Given the description of an element on the screen output the (x, y) to click on. 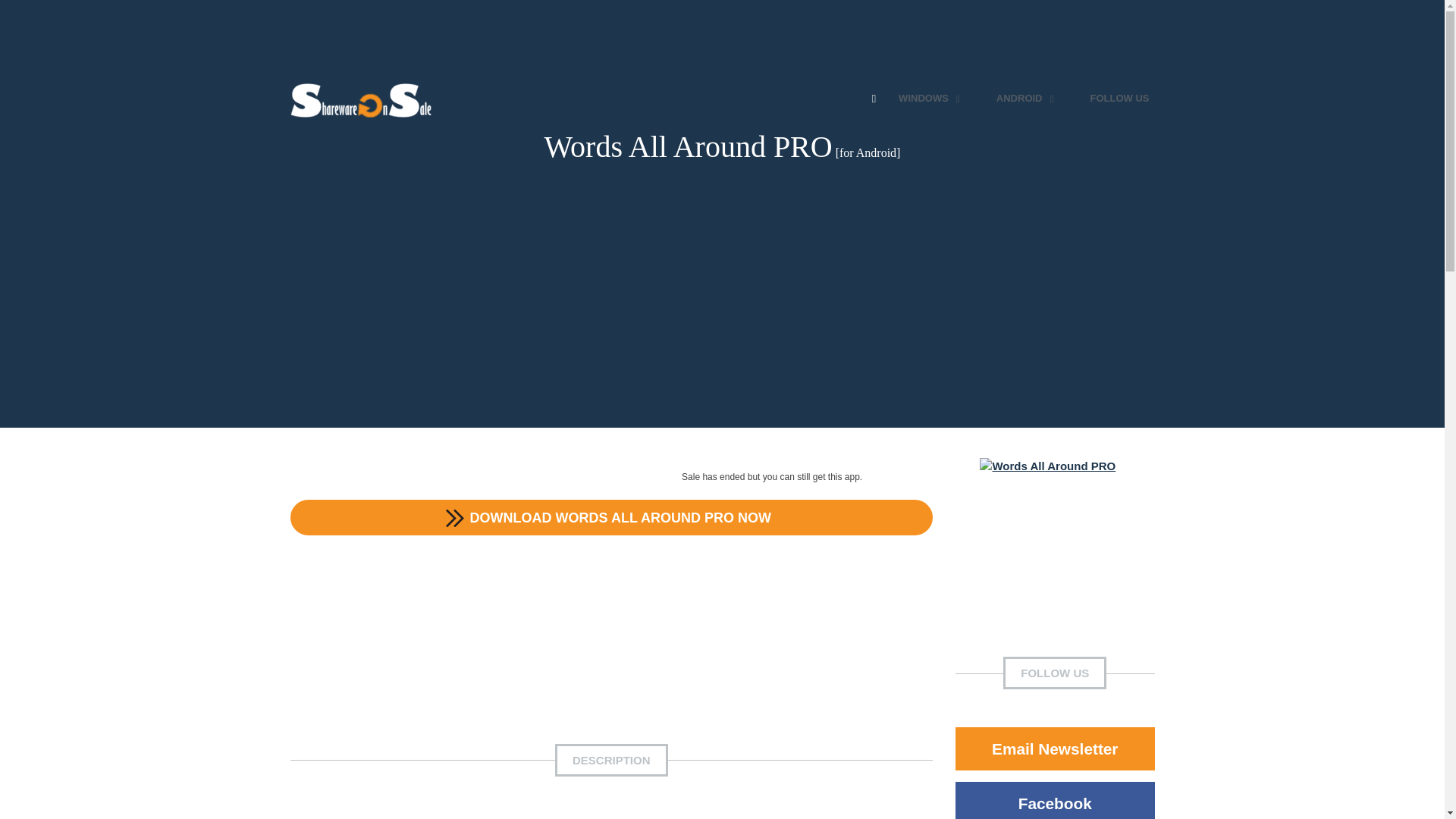
Email Newsletter (1054, 748)
SharewareOnSale (364, 98)
WINDOWS (930, 98)
ANDROID (1026, 98)
DOWNLOAD WORDS ALL AROUND PRO NOW (611, 516)
FOLLOW US (1120, 98)
Facebook (1054, 800)
